Given the description of an element on the screen output the (x, y) to click on. 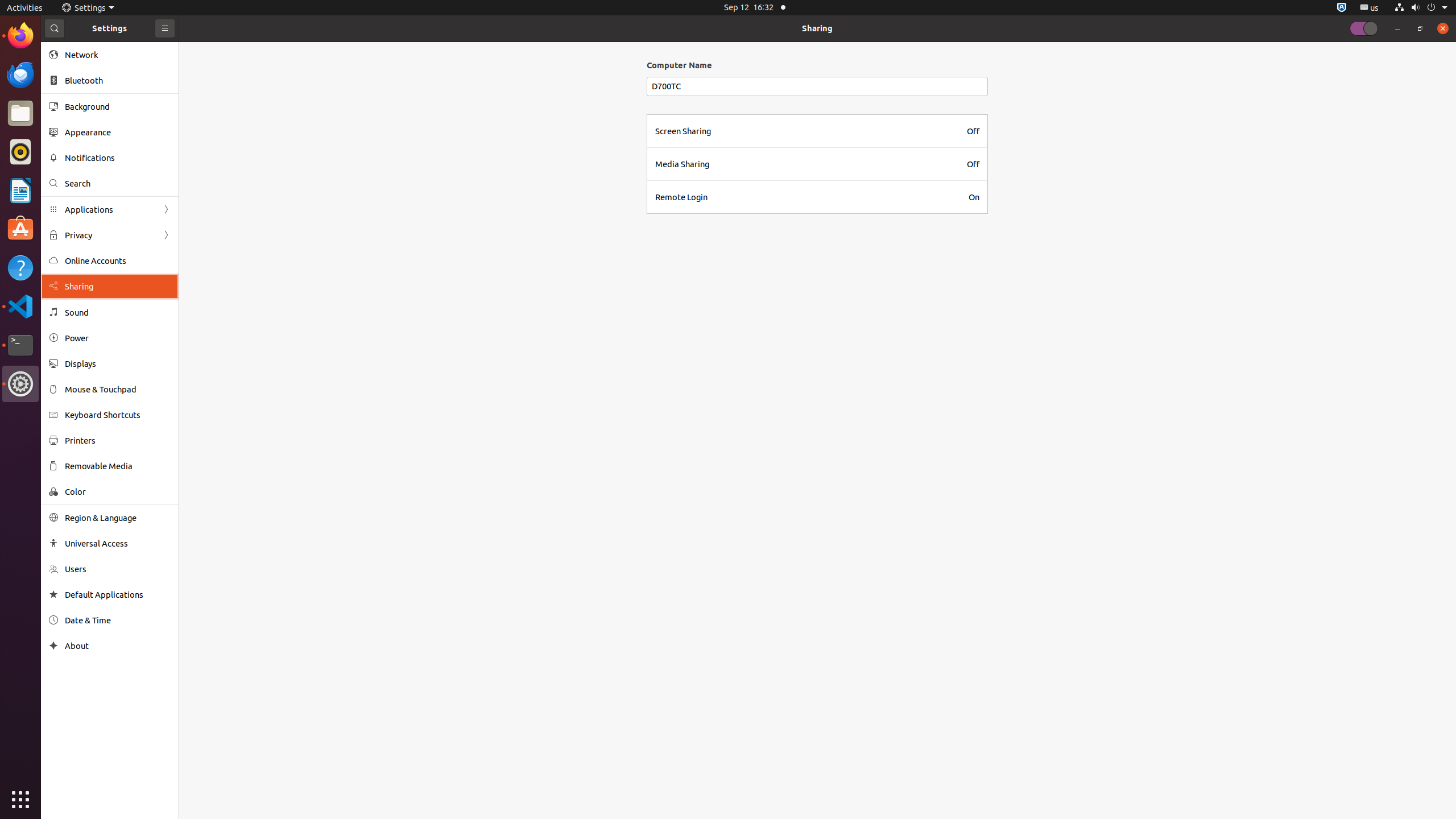
Printers Element type: label (117, 440)
Background Element type: label (117, 106)
About Element type: icon (53, 645)
Settings Element type: menu (87, 7)
